Given the description of an element on the screen output the (x, y) to click on. 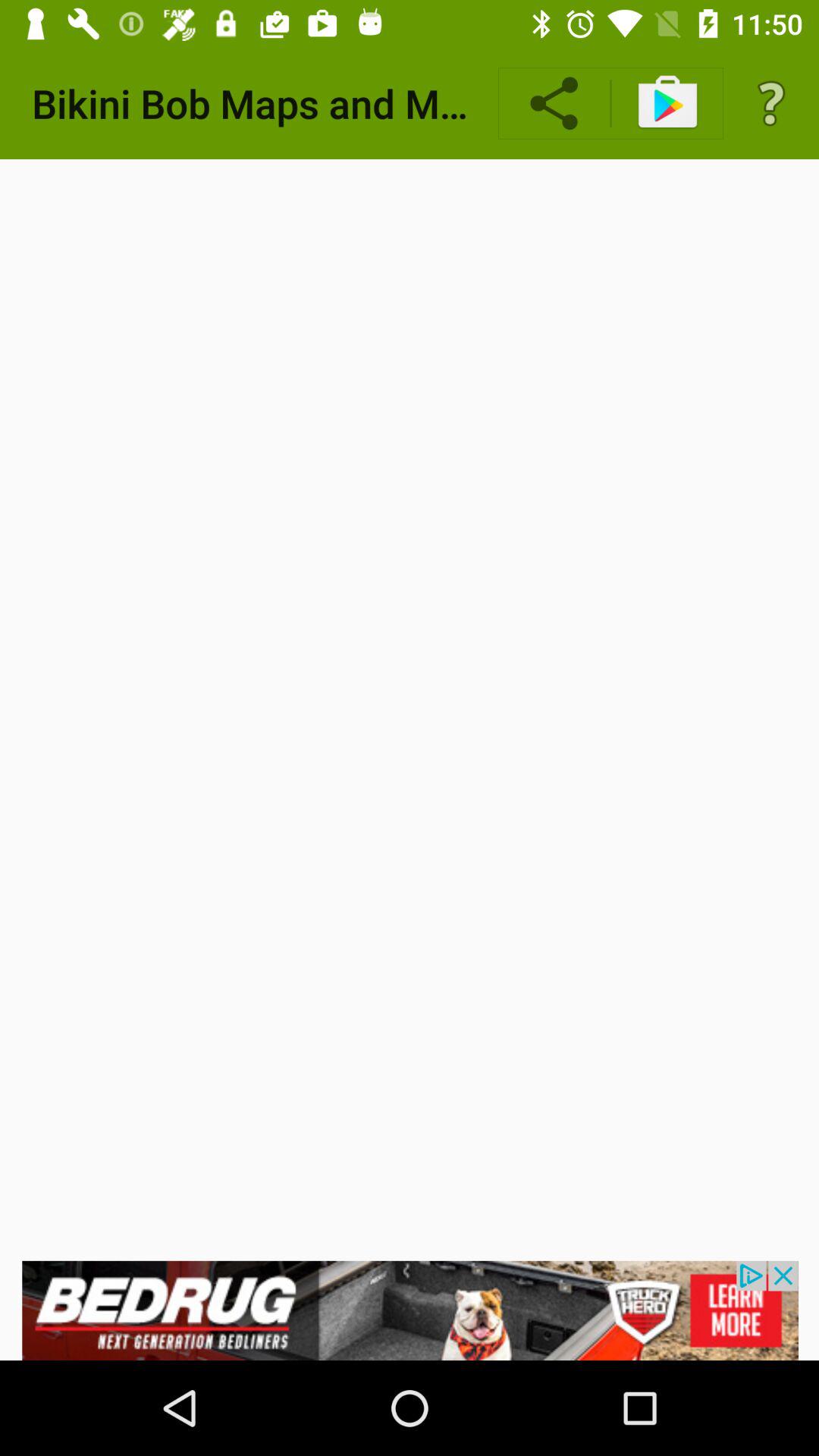
click on advertisement (409, 1310)
